Given the description of an element on the screen output the (x, y) to click on. 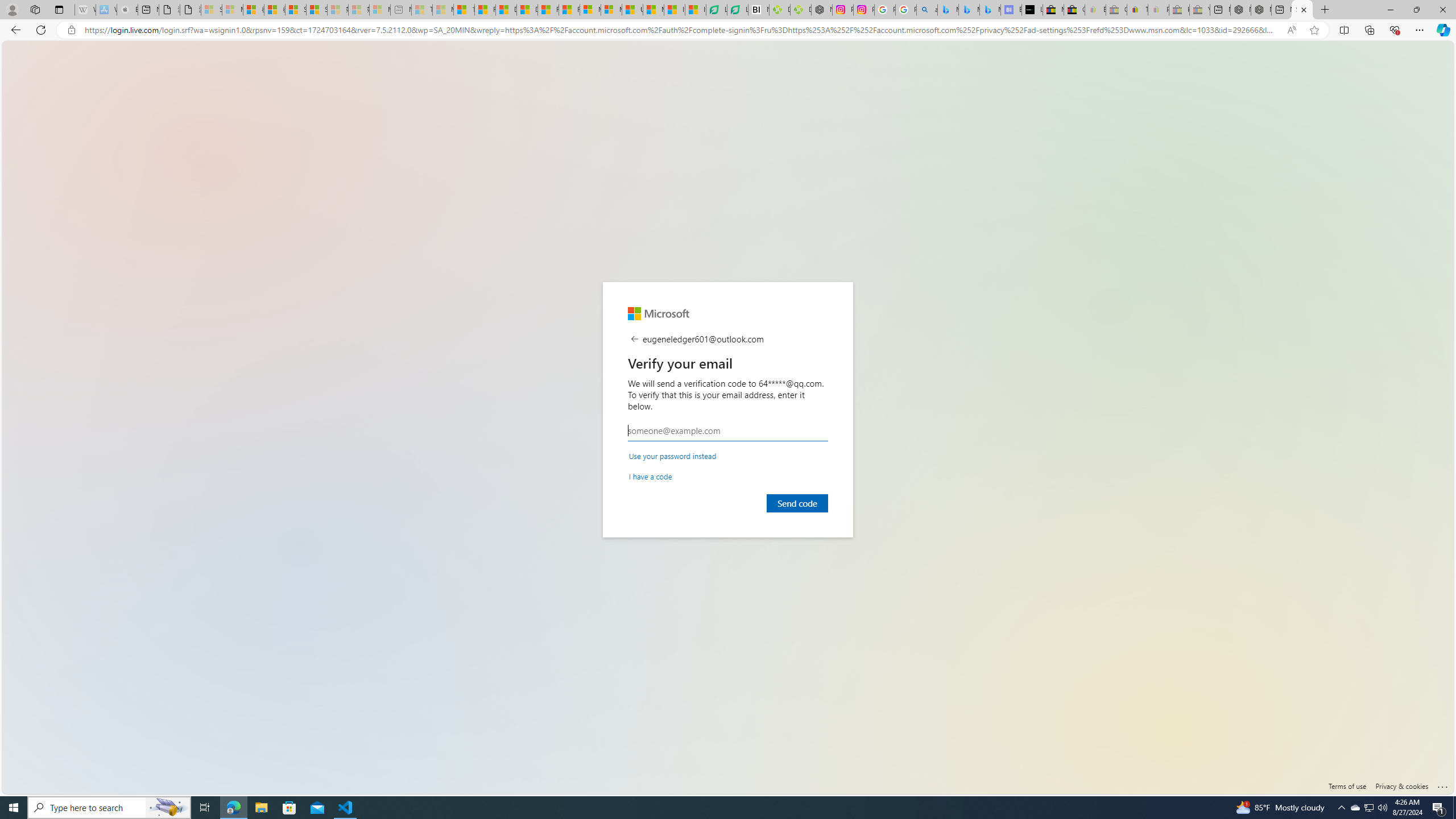
Microsoft Bing Travel - Flights from Hong Kong to Bangkok (948, 9)
Send code (797, 502)
Nordace - Nordace Edin Collection (821, 9)
Marine life - MSN - Sleeping (443, 9)
Microsoft Bing Travel - Shangri-La Hotel Bangkok (990, 9)
Threats and offensive language policy | eBay (1137, 9)
Email (727, 430)
